Given the description of an element on the screen output the (x, y) to click on. 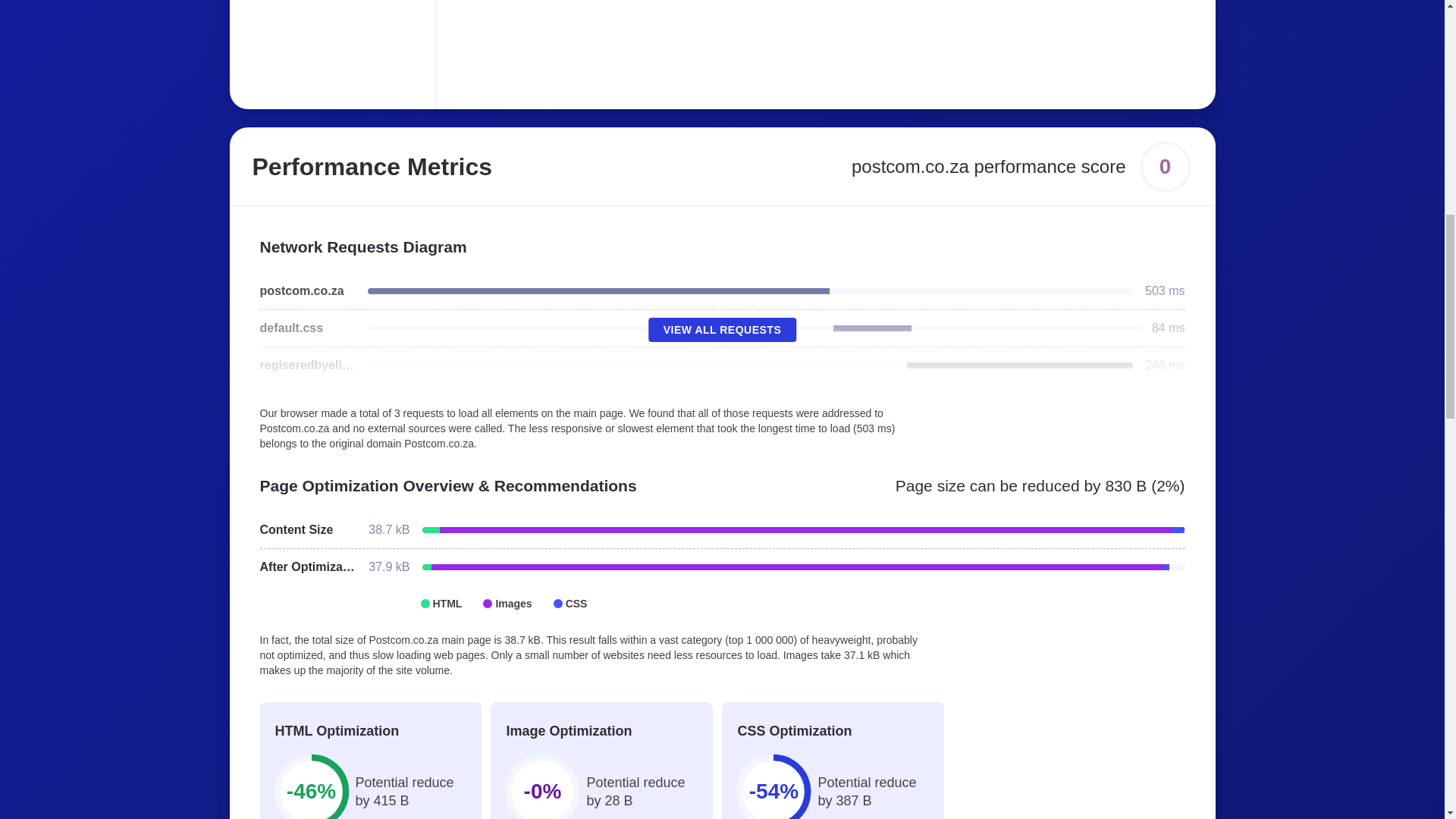
VIEW ALL REQUESTS (721, 329)
